Given the description of an element on the screen output the (x, y) to click on. 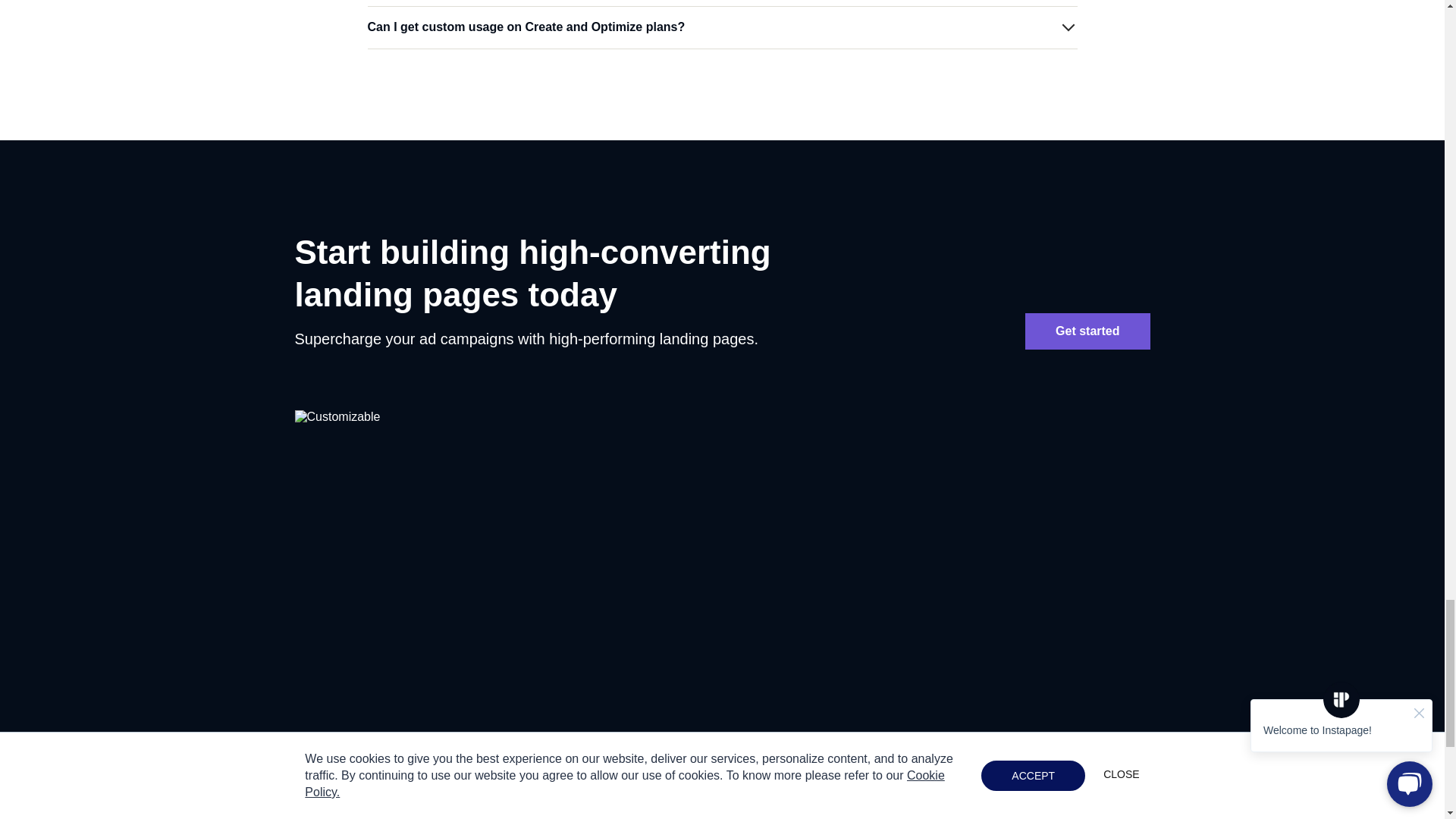
Get started (1087, 330)
